Given the description of an element on the screen output the (x, y) to click on. 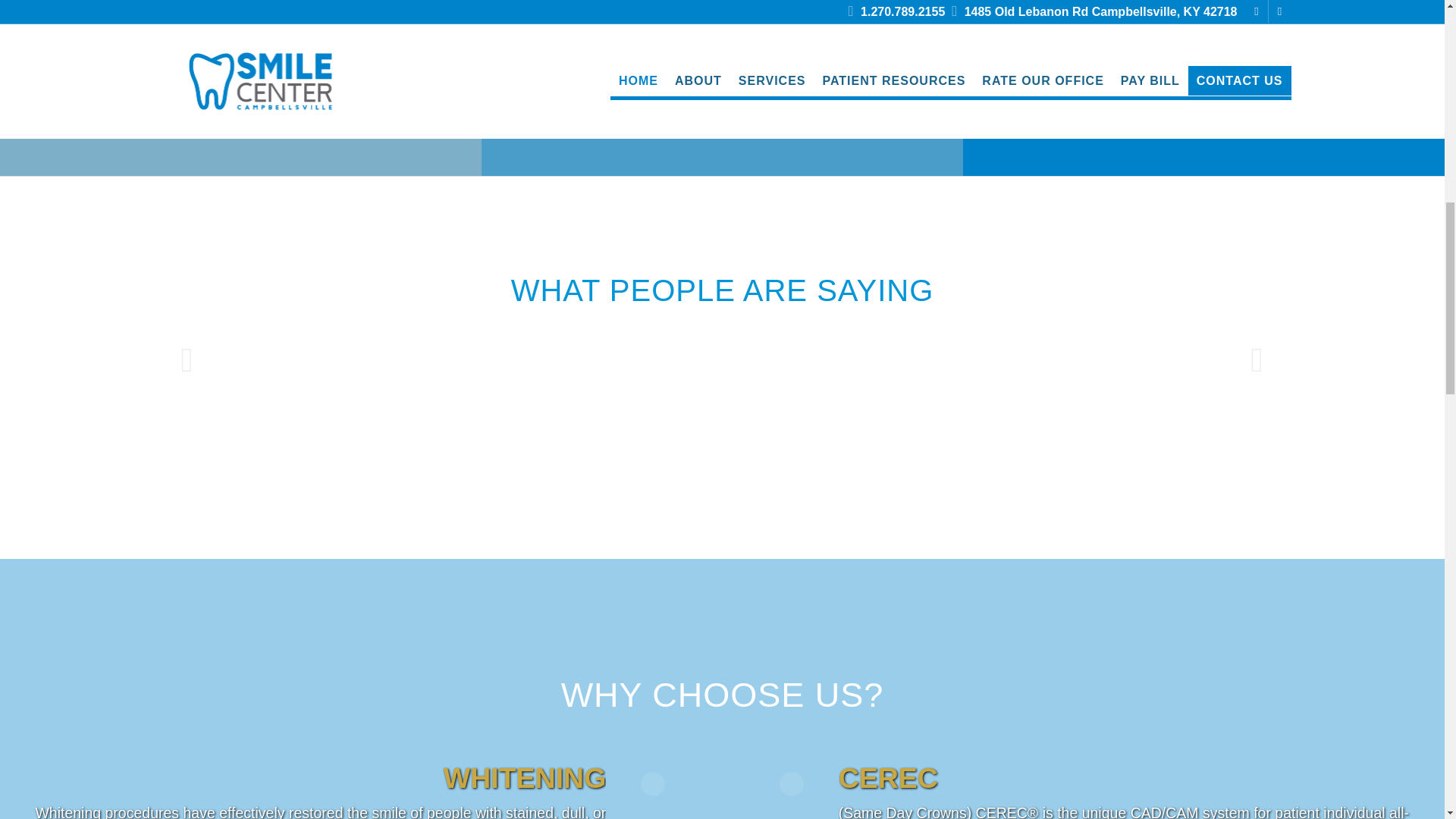
CEREC (721, 90)
ORTHODONTICS (239, 90)
Orthodontics (239, 90)
CEREC (721, 90)
Orthodontics (239, 29)
CEREC (721, 29)
Aesthetics (1203, 90)
Aesthetics (1203, 29)
